Given the description of an element on the screen output the (x, y) to click on. 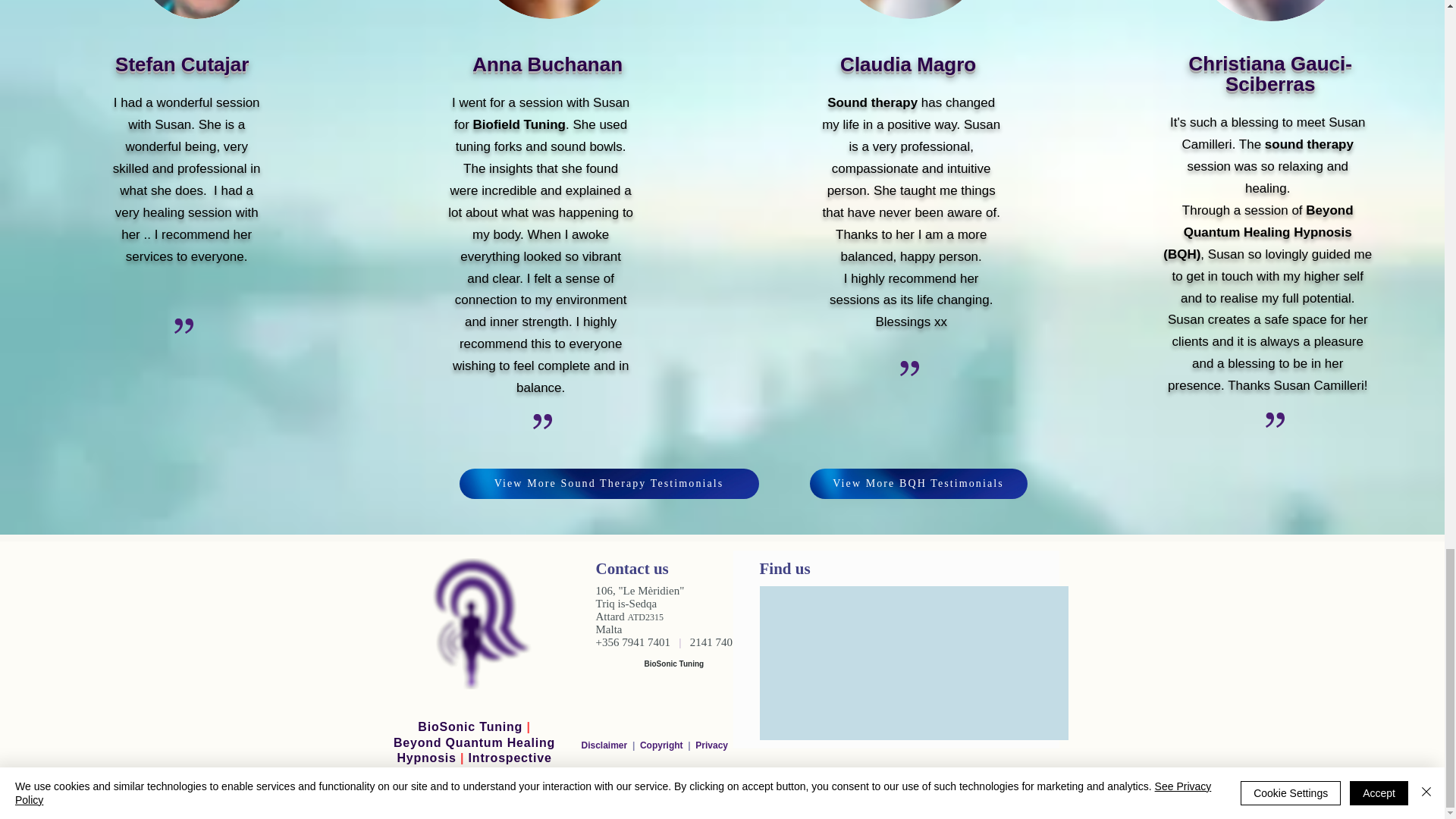
Disclaimer  (605, 745)
GettyImages-145680711.jpg (1270, 10)
Google Maps (913, 663)
View More Sound Therapy Testimonials (609, 483)
View More BQH Testimonials (918, 483)
Copyright  (662, 745)
Privacy (711, 745)
